Given the description of an element on the screen output the (x, y) to click on. 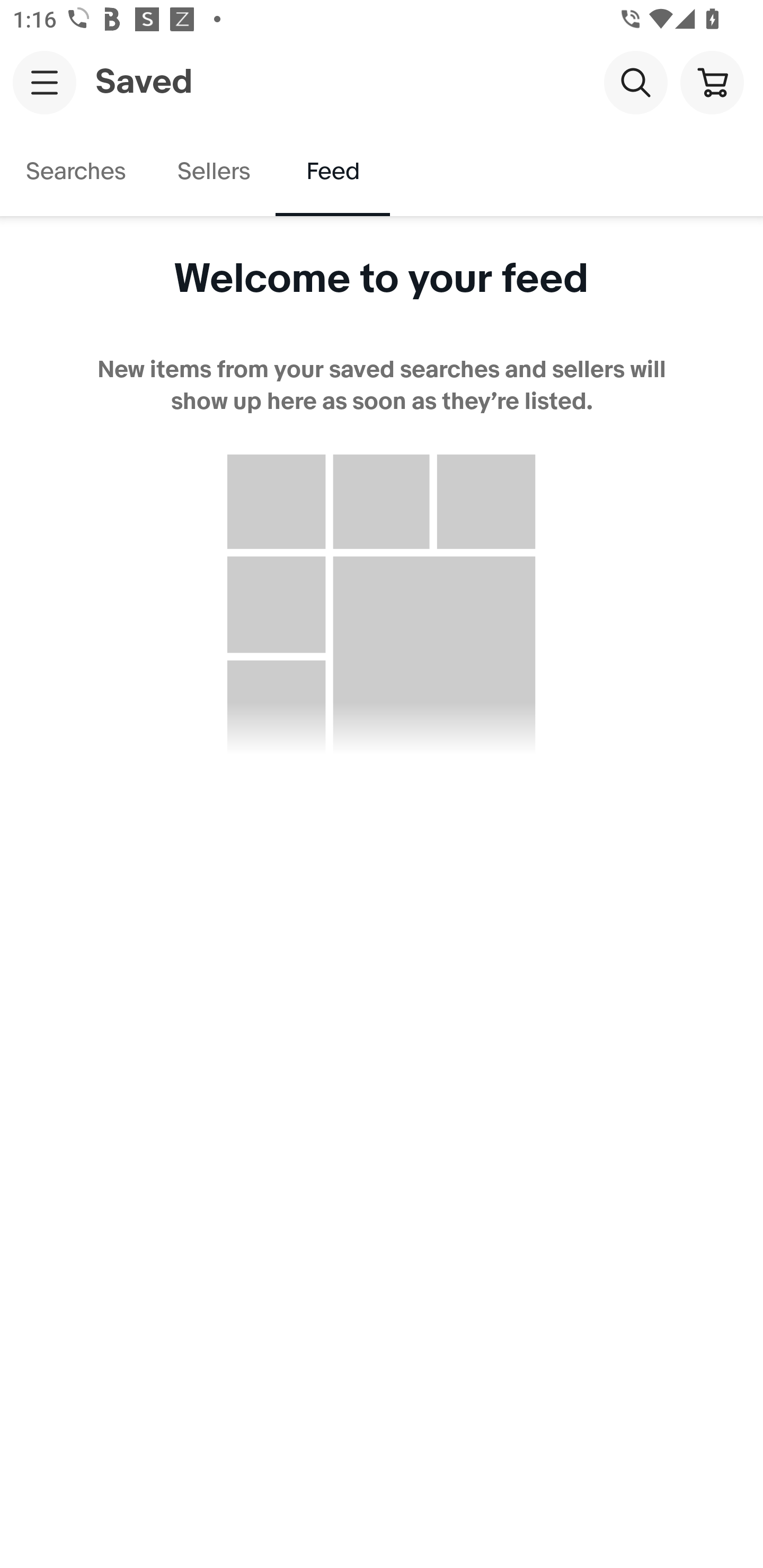
Main navigation, open (44, 82)
Search (635, 81)
Cart button shopping cart (711, 81)
Searches (75, 171)
Sellers (213, 171)
